Given the description of an element on the screen output the (x, y) to click on. 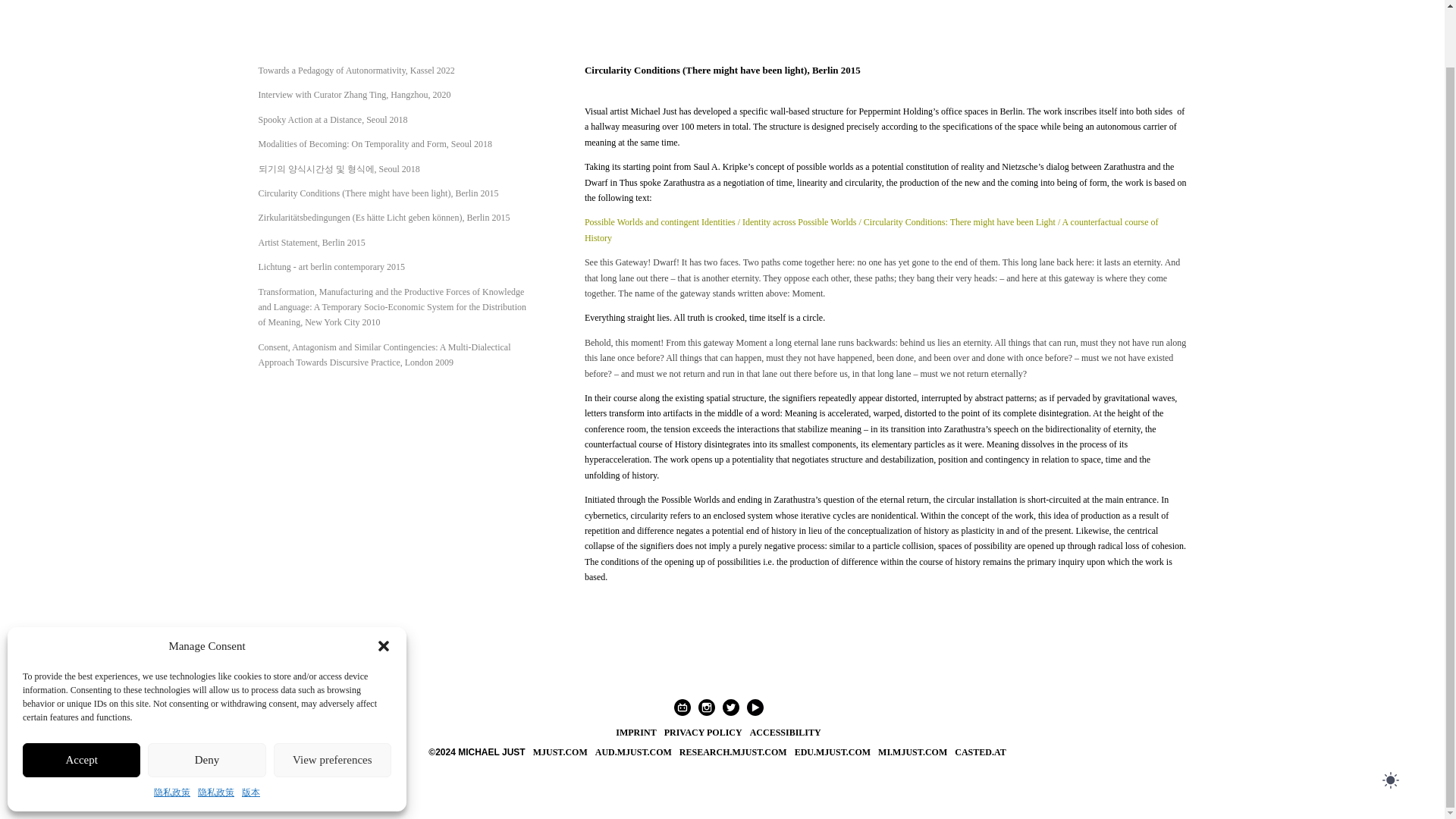
View preferences (332, 697)
Spooky Action at a Distance, Seoul 2018 (332, 119)
Accept (81, 697)
Towards a Pedagogy of Autonormativity, Kassel 2022 (355, 70)
Interview with Curator Zhang Ting, Hangzhou, 2020 (353, 94)
Deny (206, 697)
